Given the description of an element on the screen output the (x, y) to click on. 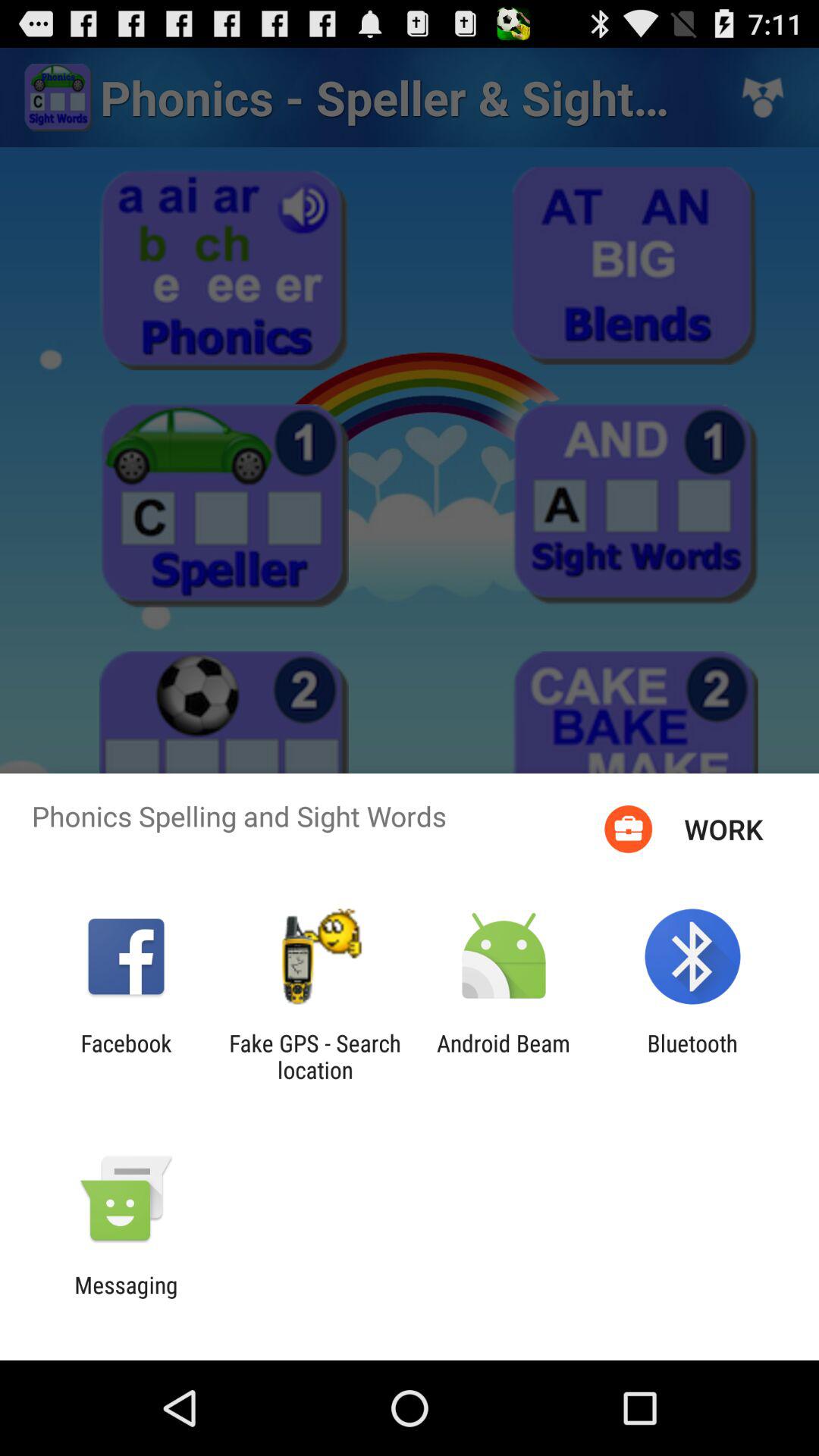
jump to the android beam app (503, 1056)
